Given the description of an element on the screen output the (x, y) to click on. 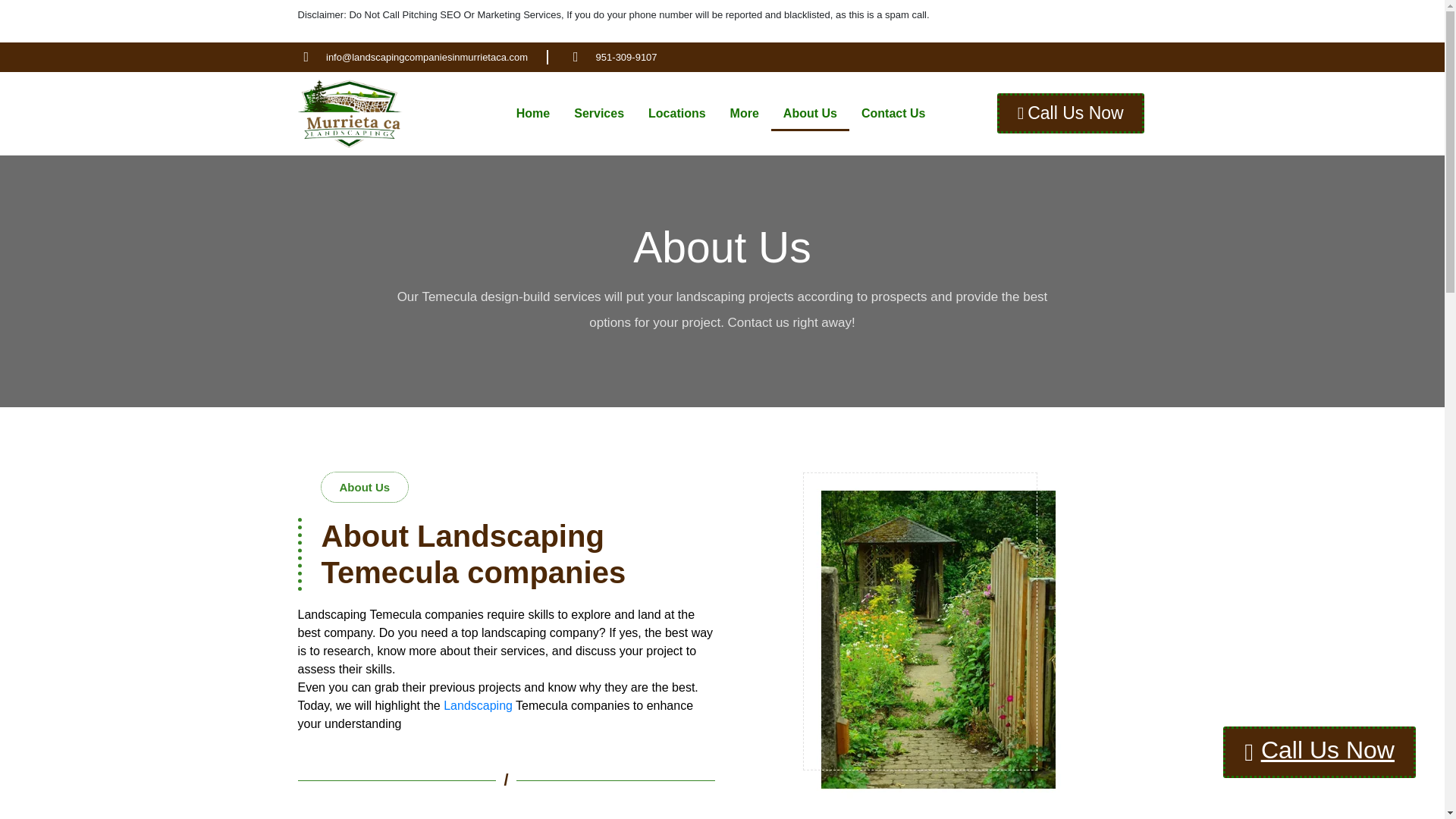
951-309-9107 (611, 57)
Landscaping (478, 705)
About Us (809, 113)
Contact Us (892, 113)
Home (532, 113)
Services (599, 113)
More (744, 113)
Locations (676, 113)
